Given the description of an element on the screen output the (x, y) to click on. 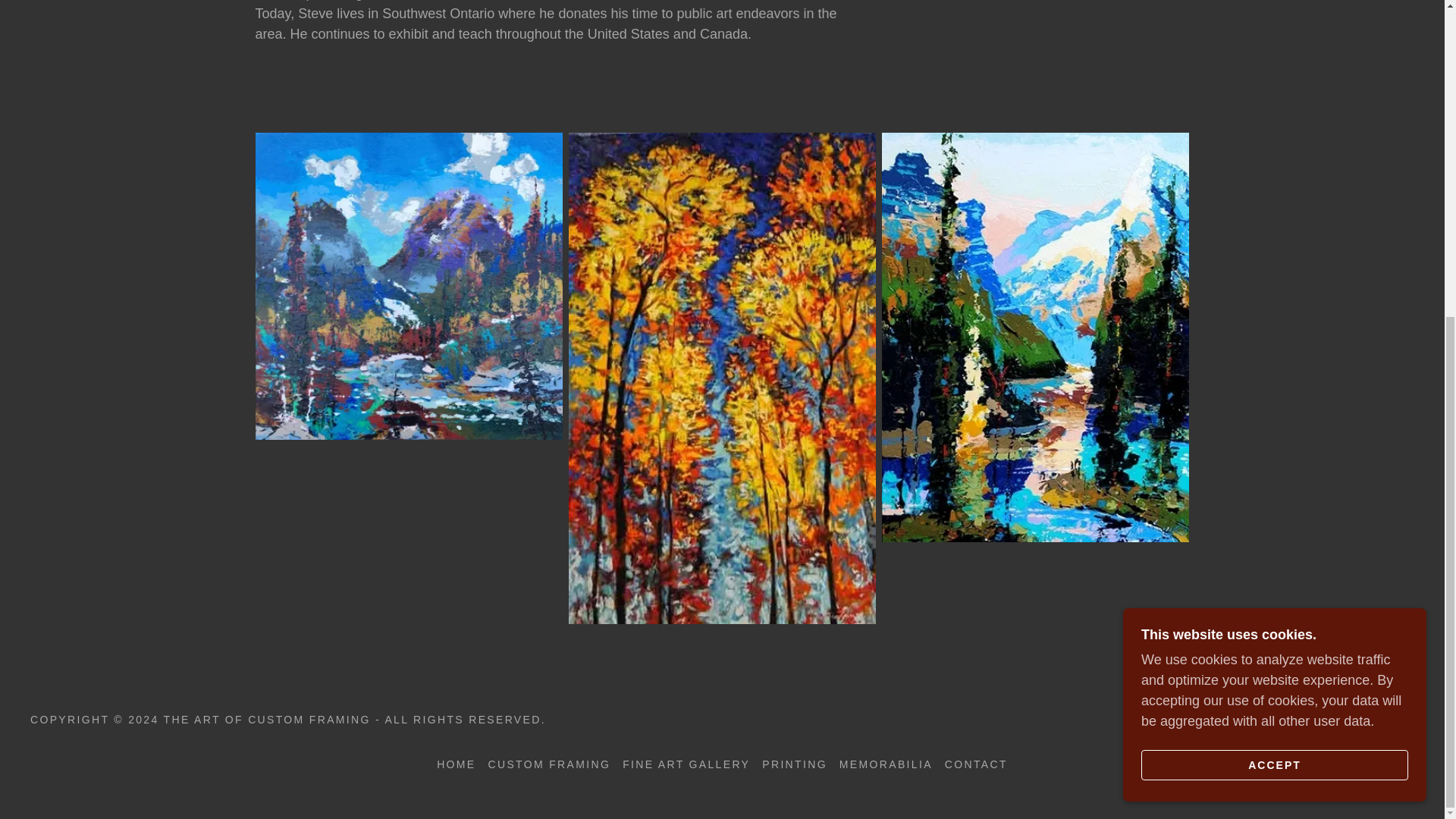
GODADDY (1380, 719)
MEMORABILIA (885, 764)
CONTACT (976, 764)
PRINTING (793, 764)
HOME (455, 764)
ACCEPT (1274, 254)
CUSTOM FRAMING (549, 764)
FINE ART GALLERY (685, 764)
